Given the description of an element on the screen output the (x, y) to click on. 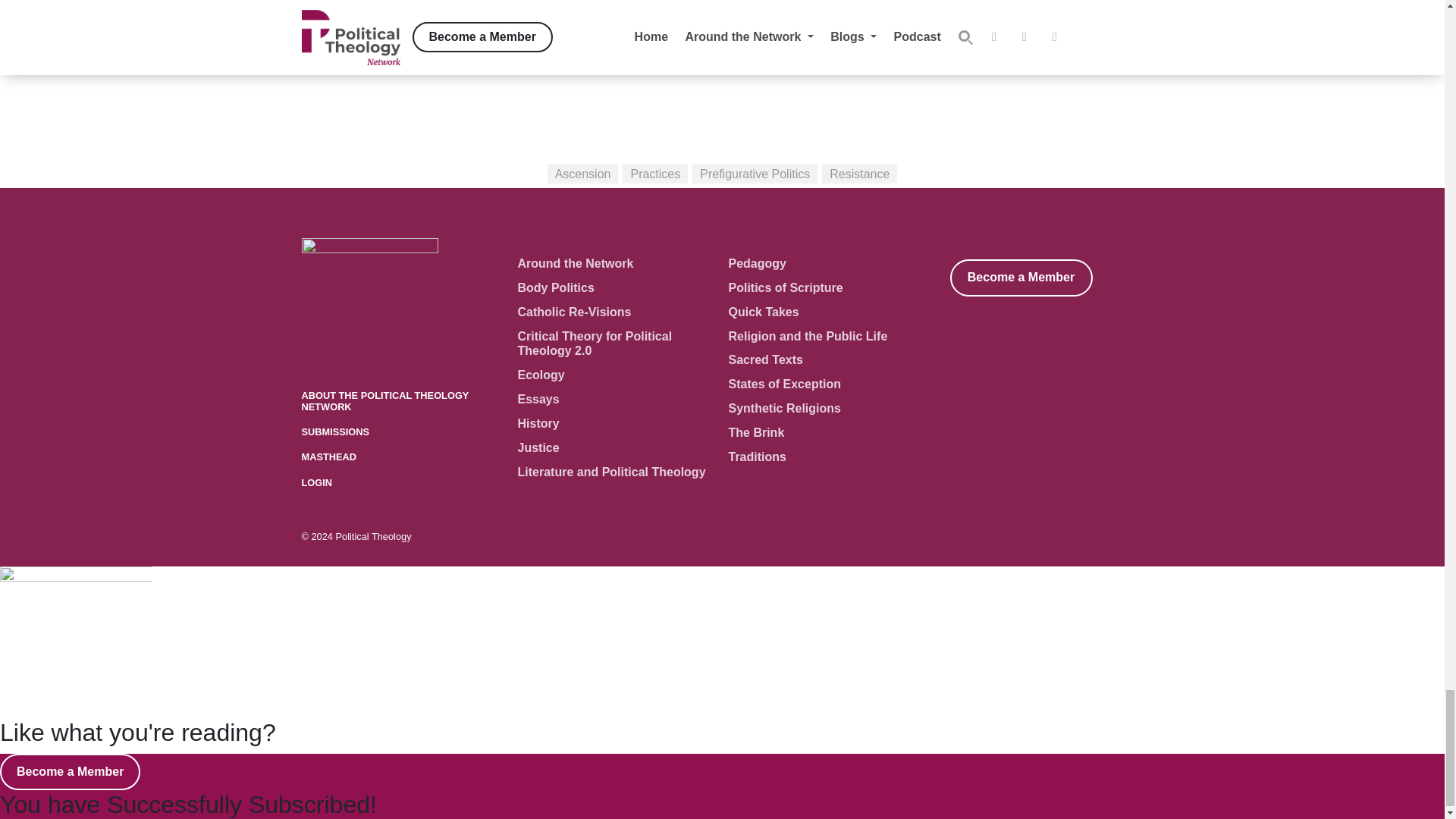
Ian Olson (728, 3)
MASTHEAD (328, 456)
View all posts in Resistance (859, 173)
Resistance (859, 173)
View all posts in Ascension (582, 173)
View all posts in practices (655, 173)
View all posts in prefigurative politics (754, 173)
Around the Network (574, 263)
ABOUT THE POLITICAL THEOLOGY NETWORK (384, 400)
Ascension (582, 173)
SUBMISSIONS (335, 431)
LOGIN (317, 482)
Prefigurative Politics (754, 173)
Practices (655, 173)
